Given the description of an element on the screen output the (x, y) to click on. 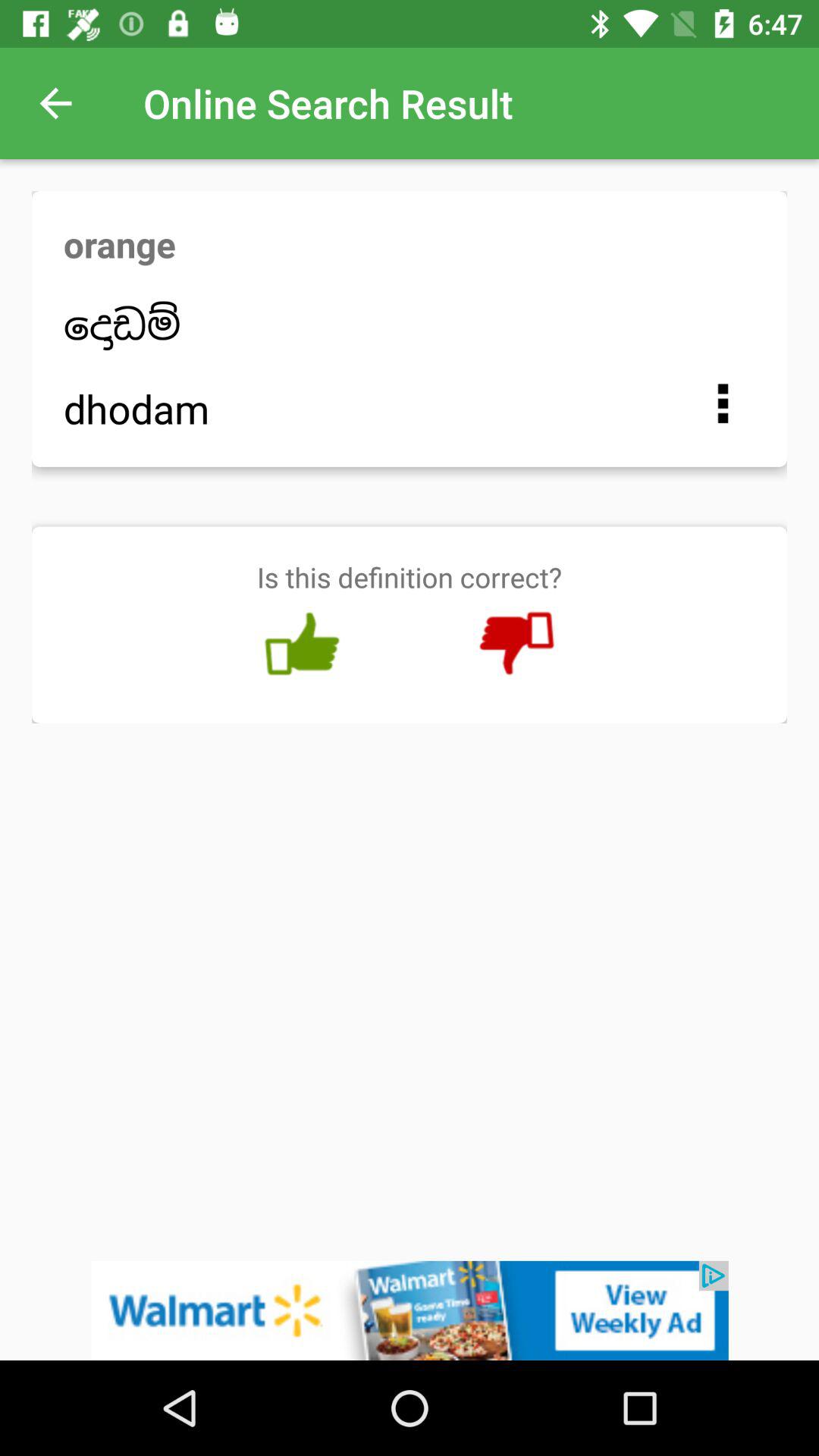
select negative (516, 643)
